Given the description of an element on the screen output the (x, y) to click on. 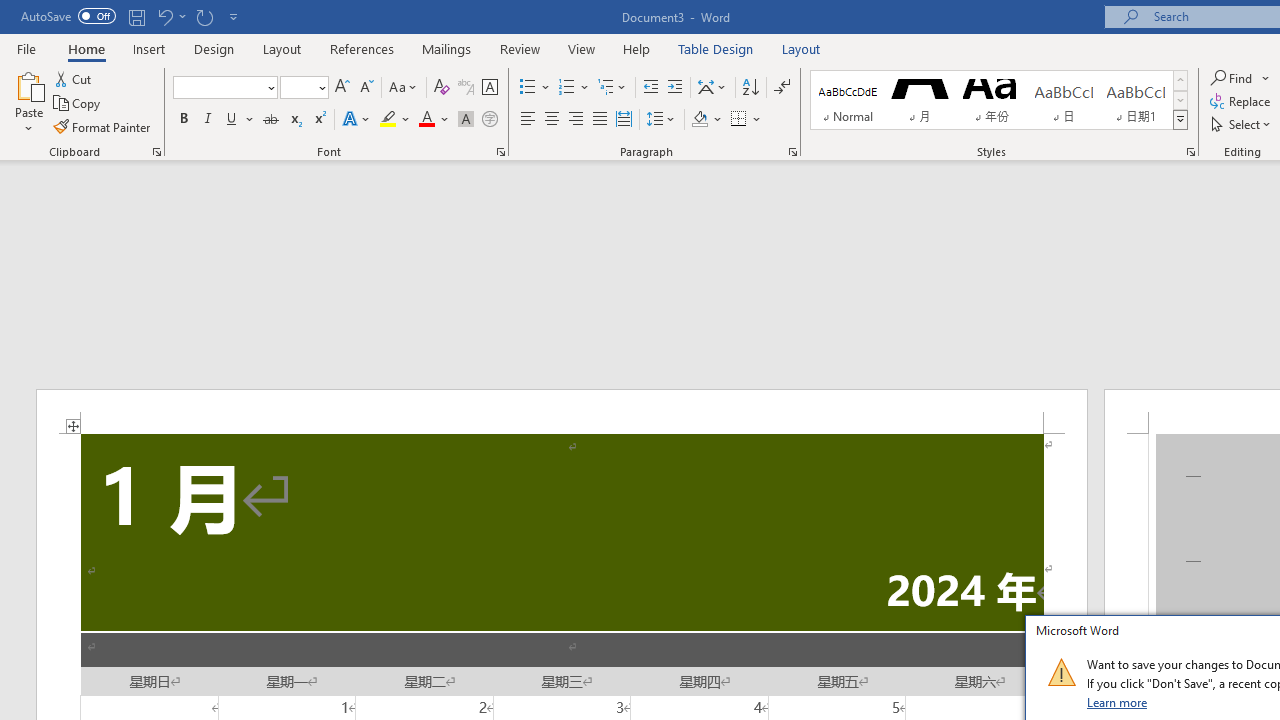
Format Painter (103, 126)
Numbering (566, 87)
Superscript (319, 119)
Insert (149, 48)
Justify (599, 119)
Customize Quick Access Toolbar (234, 15)
Quick Access Toolbar (131, 16)
Styles (1179, 120)
Open (320, 87)
Class: NetUIImage (1061, 671)
Underline (239, 119)
Review (520, 48)
Line and Paragraph Spacing (661, 119)
Bullets (535, 87)
